Given the description of an element on the screen output the (x, y) to click on. 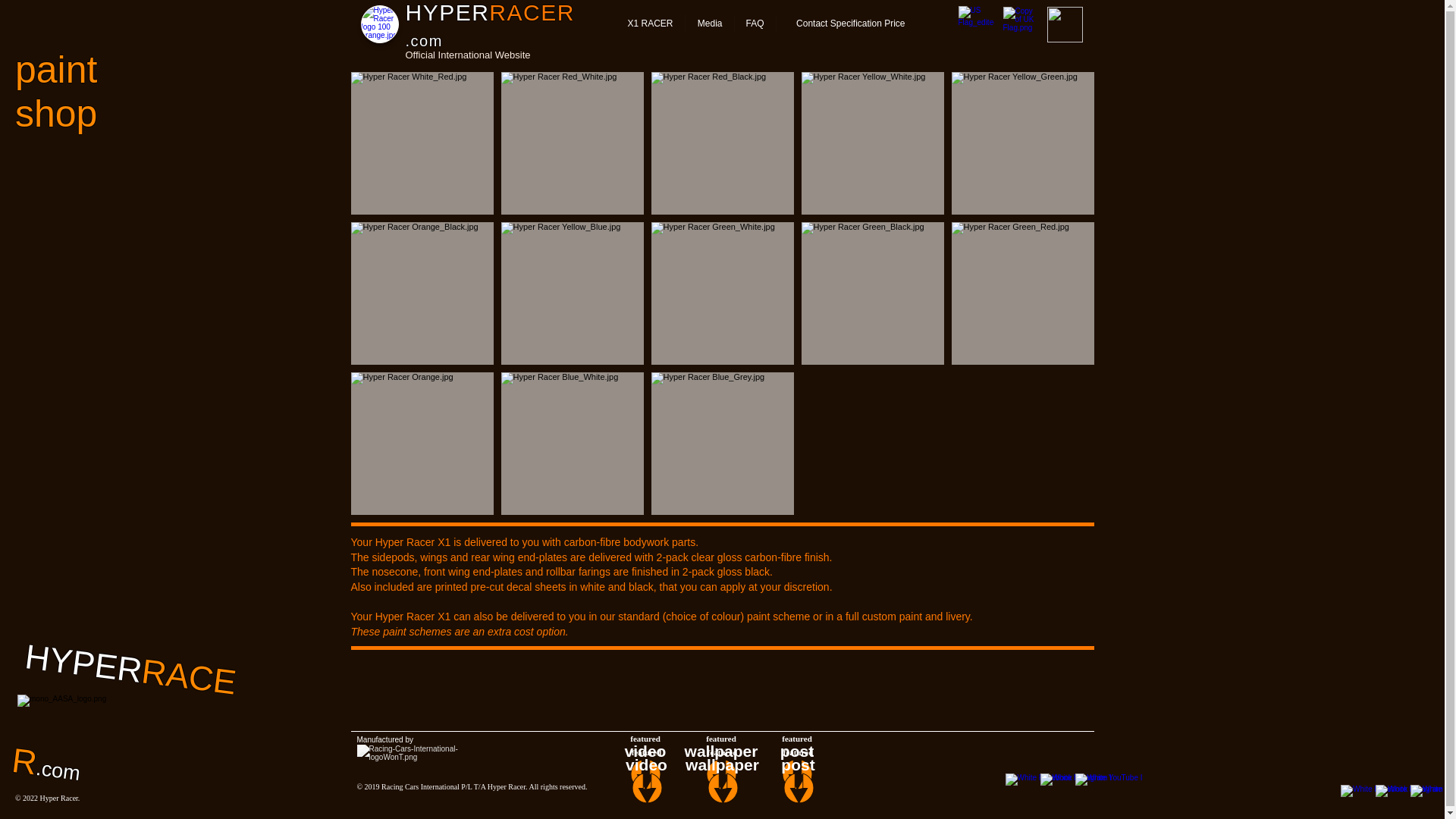
X1 RACER (649, 23)
FAQ (754, 23)
Media (708, 23)
HYPERRACER.com (488, 25)
Contact Specification Price (844, 23)
US Flag.jpg (976, 23)
Official International Website (466, 54)
